Given the description of an element on the screen output the (x, y) to click on. 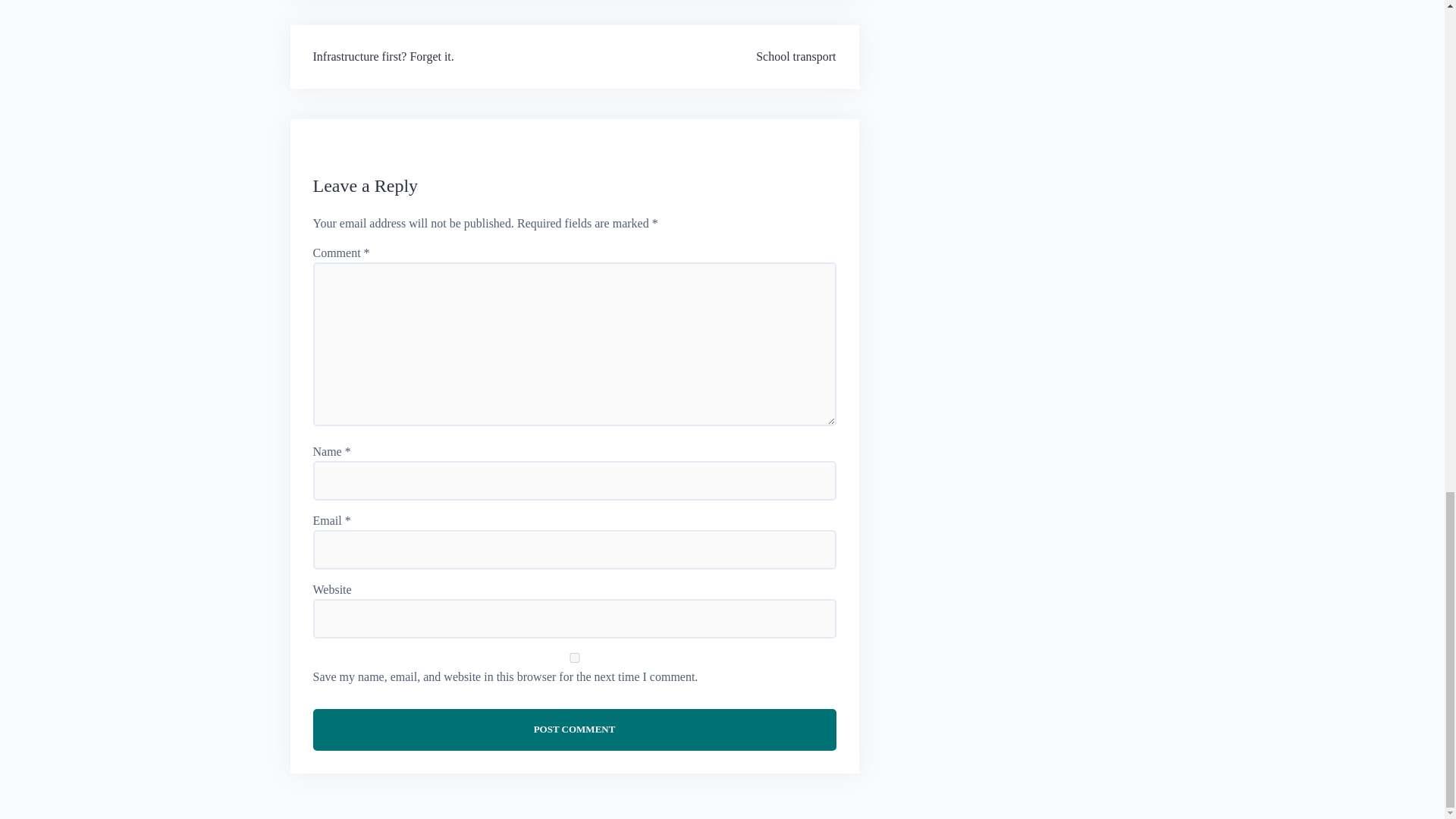
Infrastructure first? Forget it. (382, 56)
Post Comment (574, 730)
School transport (795, 56)
Post Comment (574, 730)
yes (574, 657)
